Given the description of an element on the screen output the (x, y) to click on. 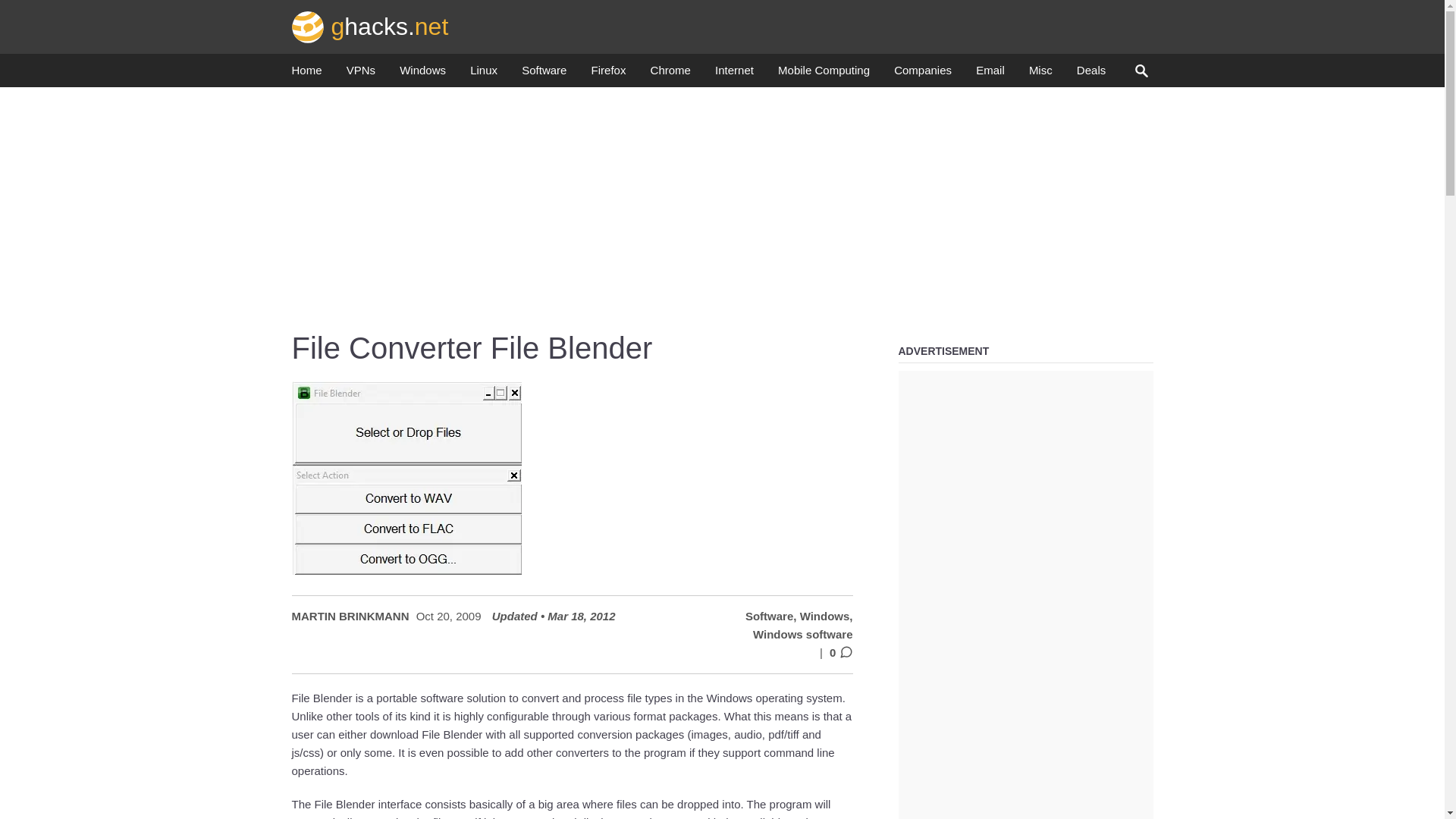
Companies (922, 73)
Firefox (608, 73)
VPNs (360, 73)
Windows (421, 73)
Chrome (670, 73)
Software (543, 73)
Linux (483, 73)
Internet (734, 73)
Email (989, 73)
Home (306, 73)
